Given the description of an element on the screen output the (x, y) to click on. 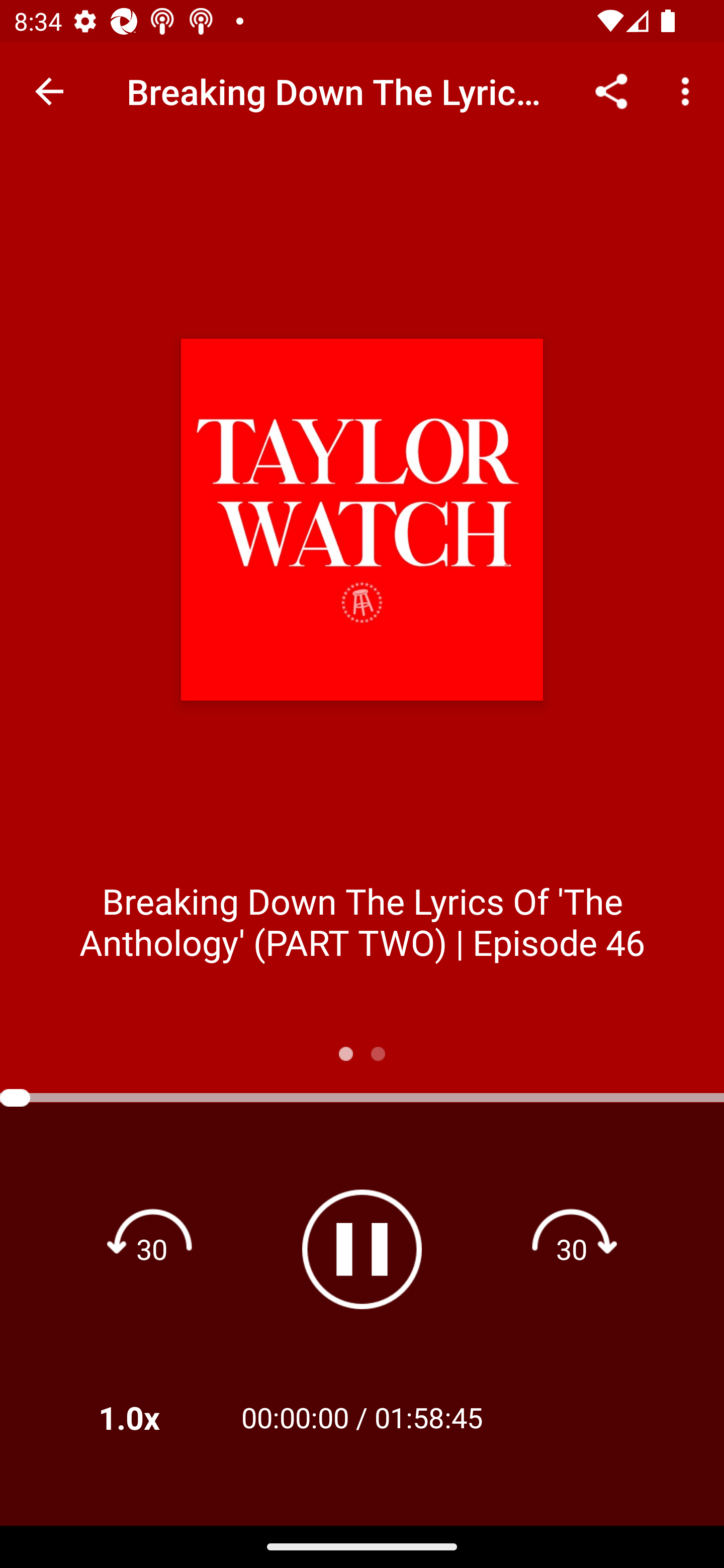
Navigate up (49, 91)
Share... (611, 90)
More options (688, 90)
Pause (361, 1249)
Rewind (151, 1248)
Fast forward (571, 1248)
1.0x Playback Speeds (154, 1417)
01:58:45 (428, 1417)
